Given the description of an element on the screen output the (x, y) to click on. 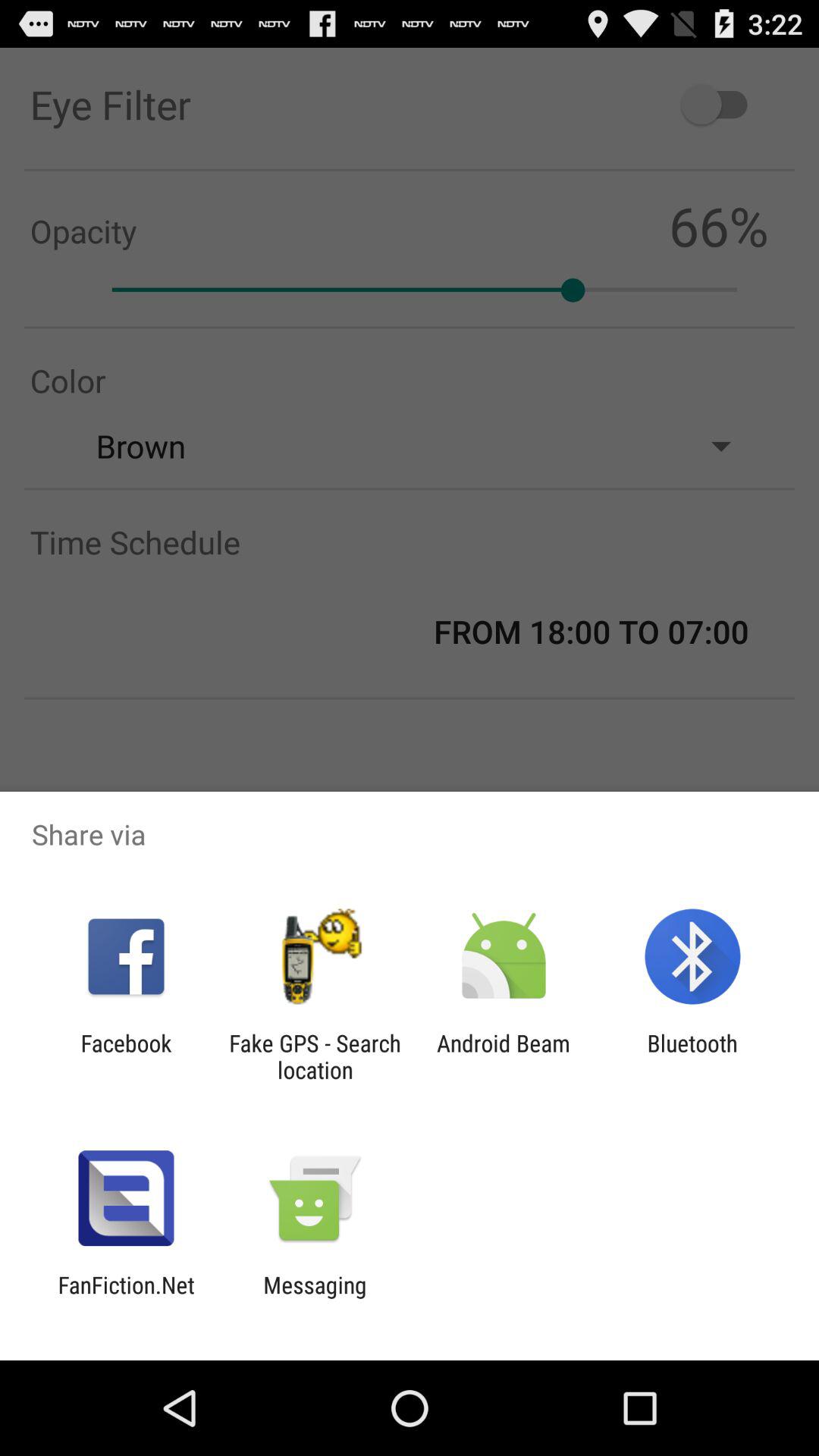
turn off app to the left of the bluetooth (503, 1056)
